Given the description of an element on the screen output the (x, y) to click on. 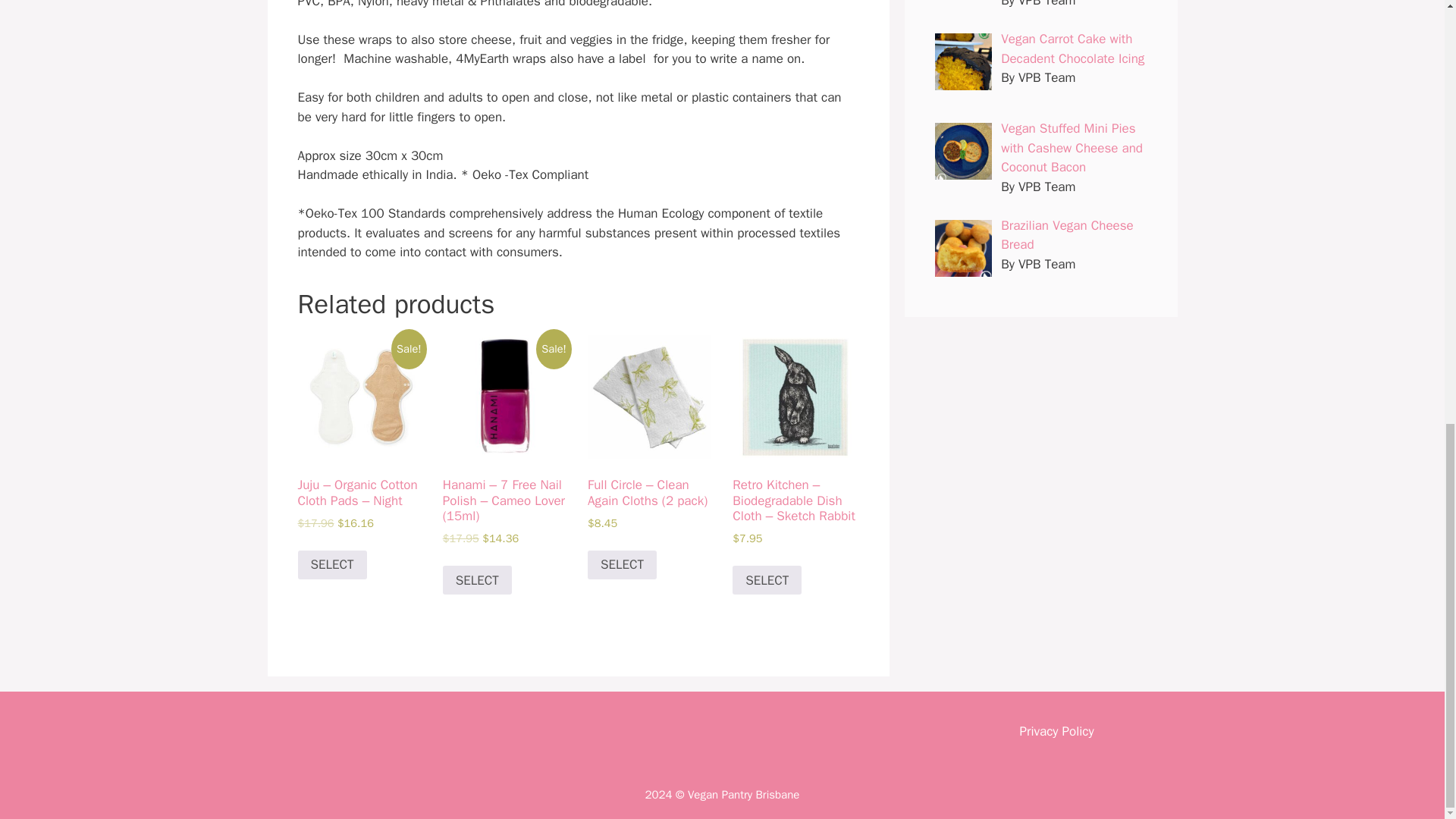
SELECT (477, 579)
SELECT (331, 564)
Privacy Policy (1056, 731)
Vegan Carrot Cake with Decadent Chocolate Icing (1072, 48)
Brazilian Vegan Cheese Bread (1067, 235)
Vegan Stuffed Mini Pies with Cashew Cheese and Coconut Bacon (1071, 147)
SELECT (622, 564)
SELECT (767, 579)
